Given the description of an element on the screen output the (x, y) to click on. 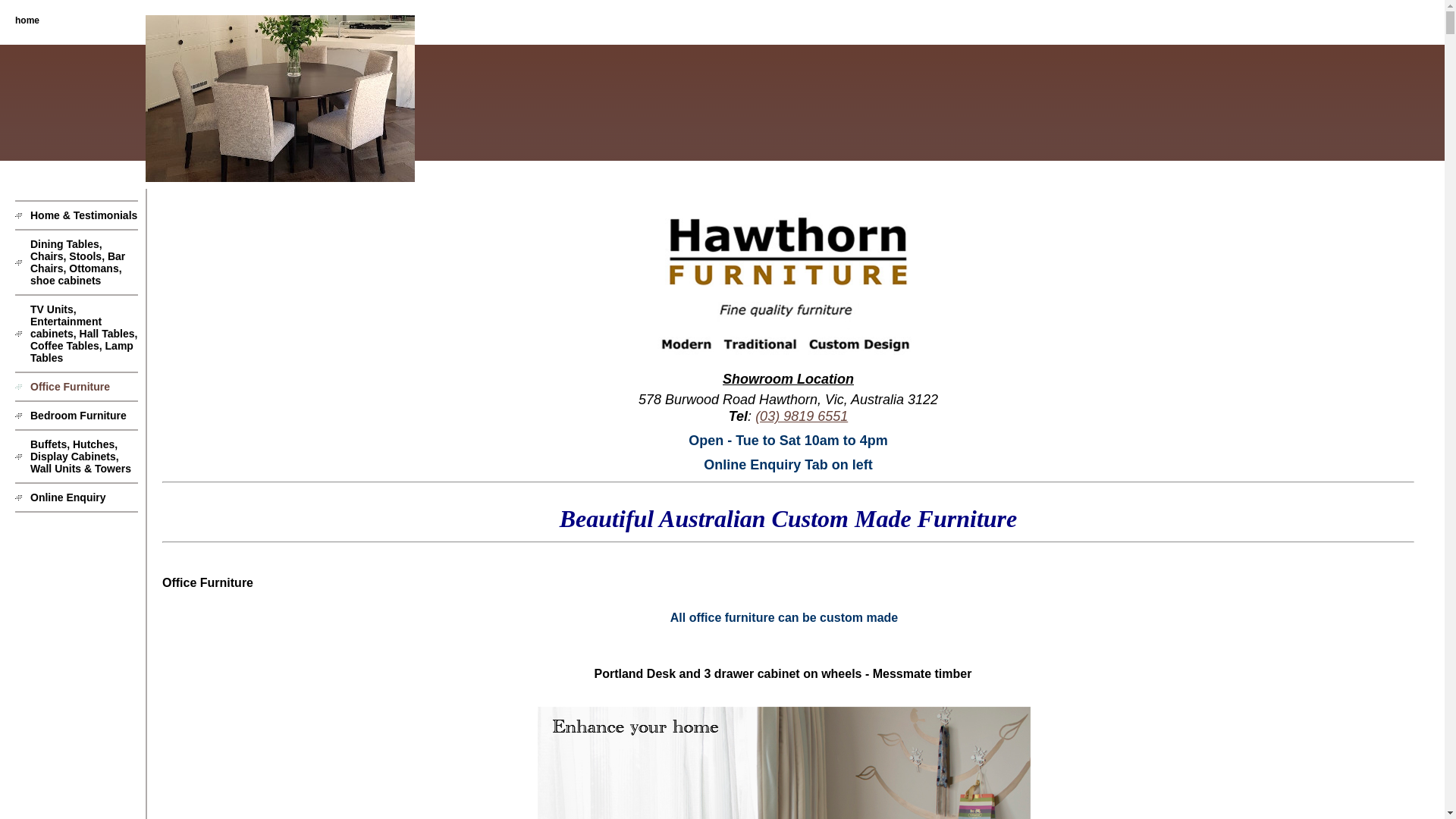
(03) 9819 6551 Element type: text (801, 415)
Buffets, Hutches, Display Cabinets, Wall Units & Towers Element type: text (76, 456)
Home & Testimonials Element type: text (76, 215)
Online Enquiry Element type: text (76, 497)
Bedroom Furniture Element type: text (76, 415)
Showroom Location Element type: text (787, 378)
Office Furniture Element type: text (76, 386)
home Element type: text (19, 20)
